Given the description of an element on the screen output the (x, y) to click on. 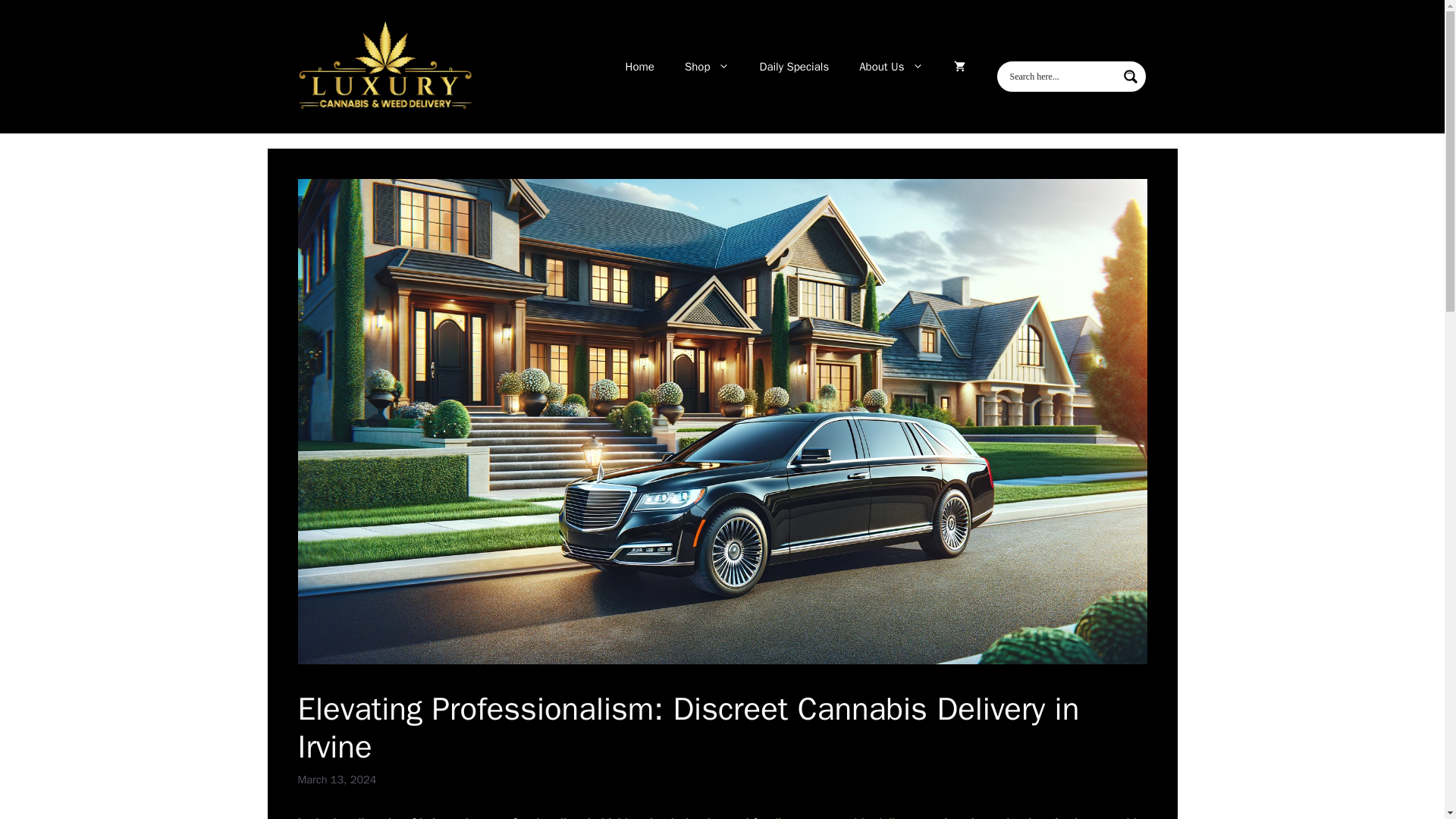
Daily Specials (794, 66)
discreet cannabis delivery (844, 816)
View your shopping cart (959, 66)
Home (639, 66)
About Us (890, 66)
Shop (706, 66)
